Given the description of an element on the screen output the (x, y) to click on. 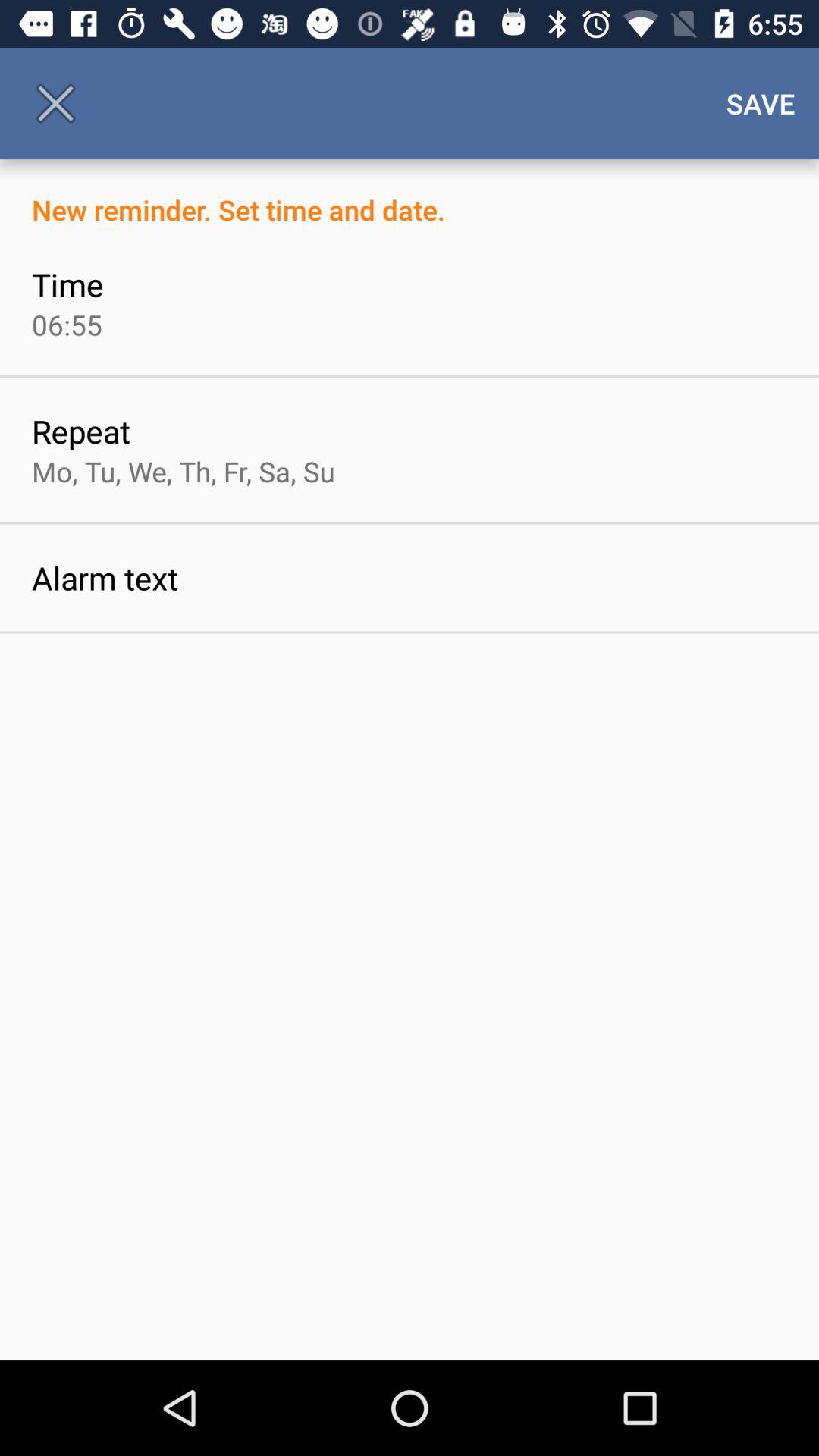
launch item at the top right corner (760, 103)
